Given the description of an element on the screen output the (x, y) to click on. 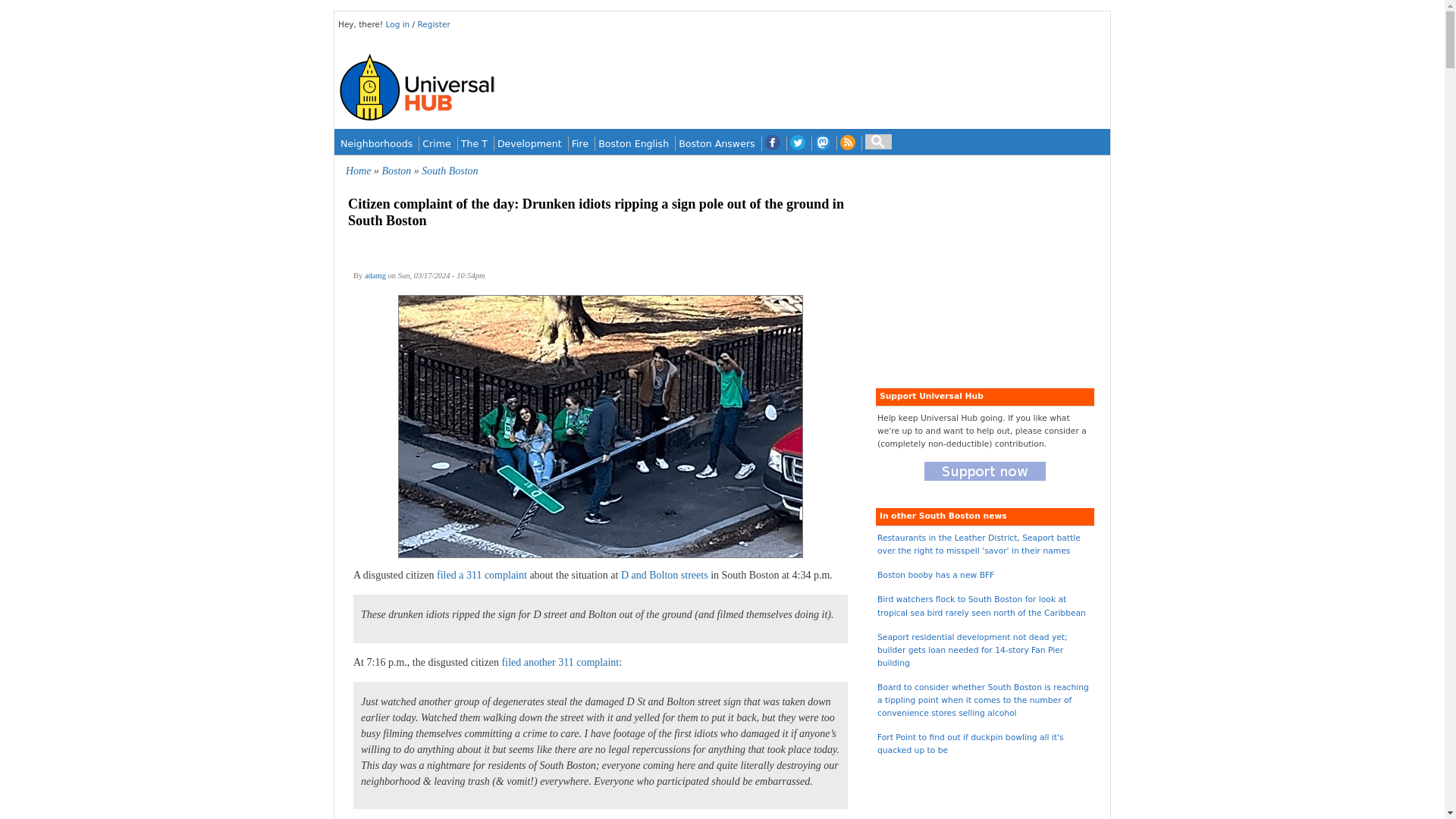
filed a 311 complaint (481, 574)
Development (529, 143)
Latest news on new development in Boston (529, 143)
Universal Hub on Twitter (797, 143)
Fire (580, 143)
Log in (398, 23)
Crime (436, 143)
Register (432, 23)
Universal Hub on Facebook (772, 143)
South Boston (449, 170)
Universal Hub RSS feed (848, 143)
Universal Hub on Mastodon (822, 143)
adamg (375, 275)
Neighborhoods (375, 143)
filed another 311 complaint (561, 662)
